Given the description of an element on the screen output the (x, y) to click on. 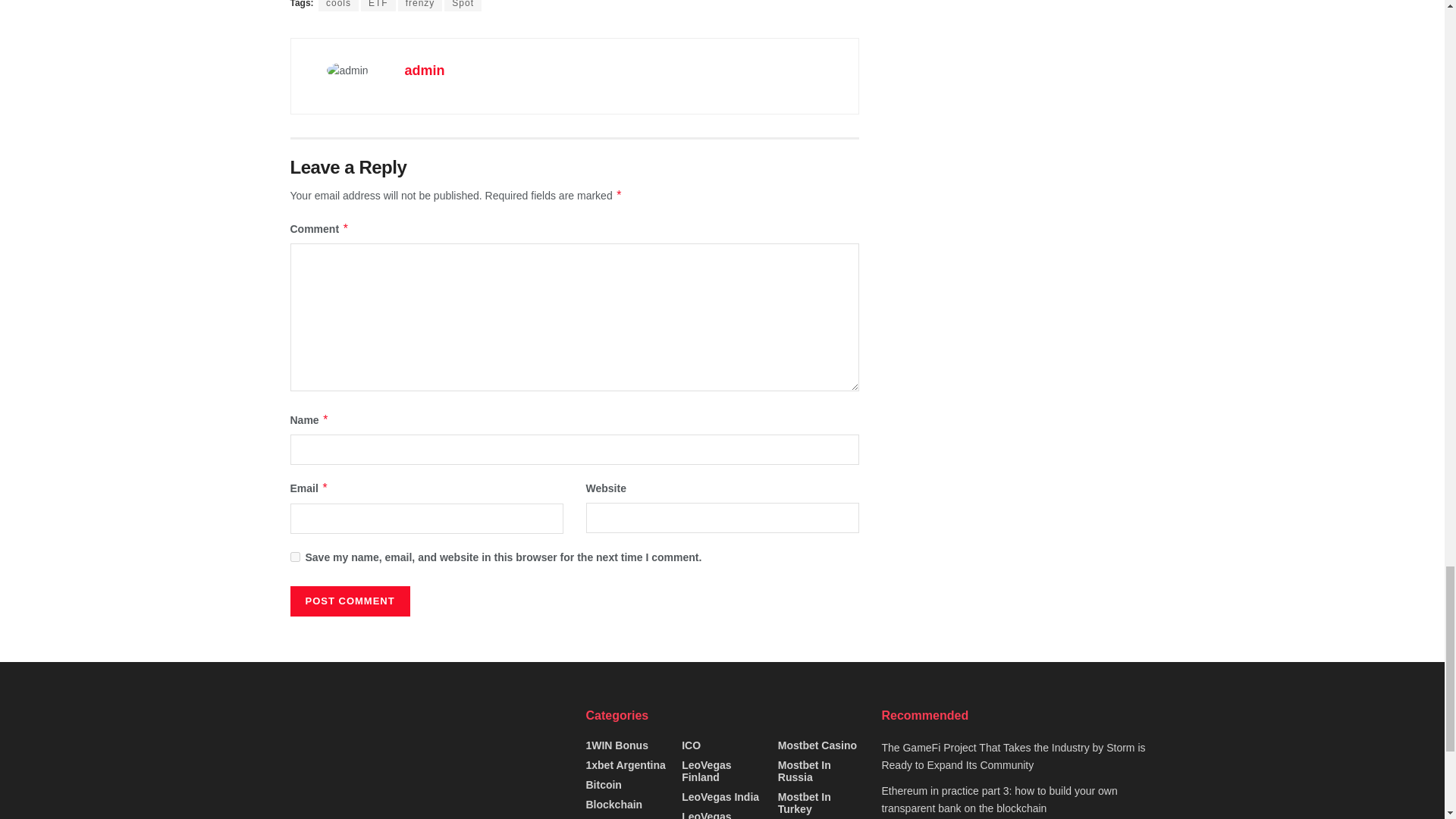
ETF (378, 5)
Spot (462, 5)
yes (294, 556)
Post Comment (349, 601)
admin (424, 70)
cools (338, 5)
frenzy (419, 5)
